Given the description of an element on the screen output the (x, y) to click on. 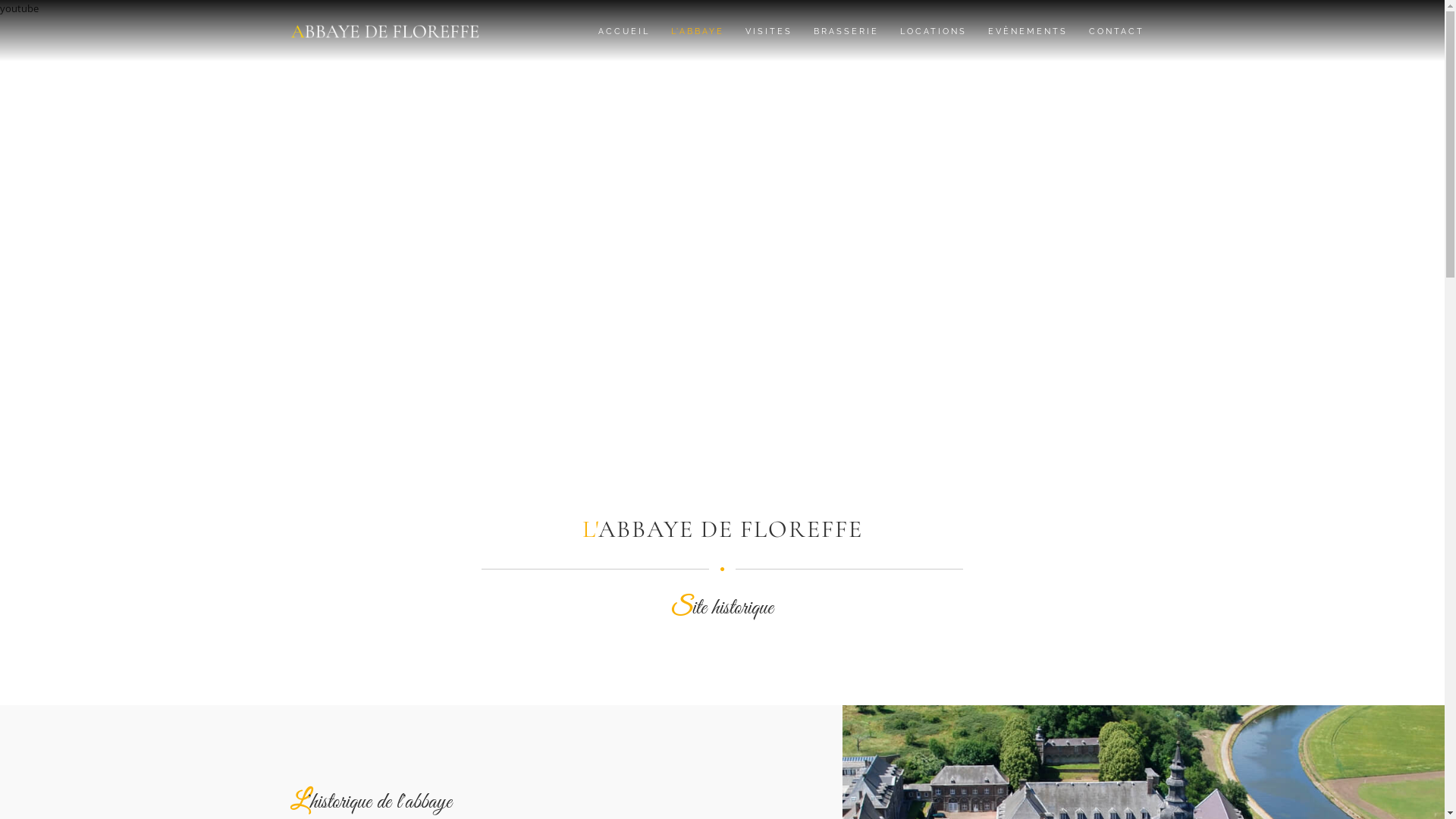
CONTACT Element type: text (1116, 29)
VISITES Element type: text (768, 29)
ACCUEIL Element type: text (622, 29)
BRASSERIE Element type: text (845, 29)
LOCATIONS Element type: text (932, 29)
